Given the description of an element on the screen output the (x, y) to click on. 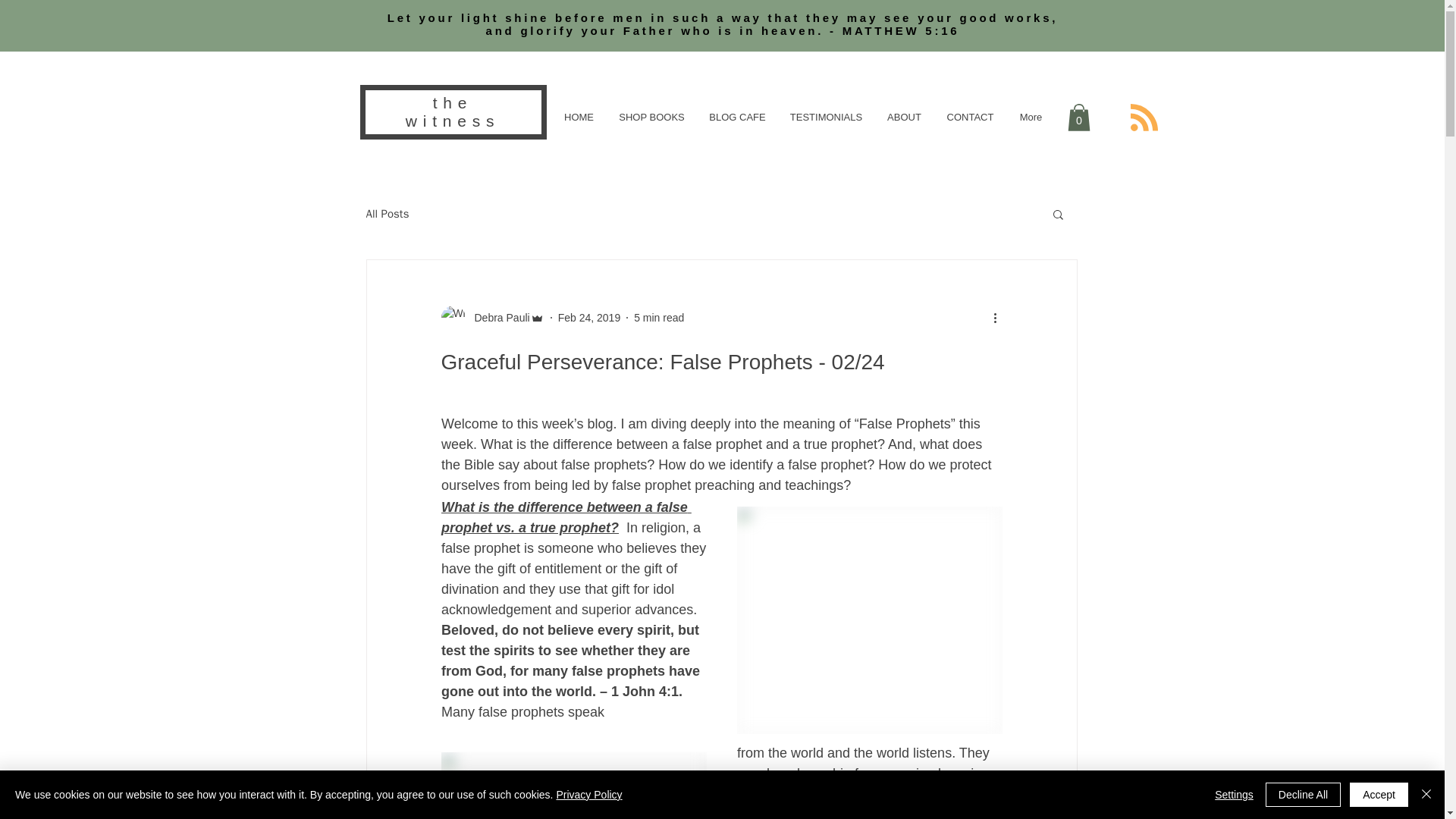
the (452, 102)
0 (1078, 117)
HOME (578, 117)
TESTIMONIALS (825, 117)
Debra Pauli (497, 317)
0 (1078, 117)
BLOG CAFE (736, 117)
All Posts (387, 213)
CONTACT (970, 117)
witness (452, 120)
SHOP BOOKS (651, 117)
5 min read (658, 316)
Feb 24, 2019 (589, 316)
ABOUT (903, 117)
